Given the description of an element on the screen output the (x, y) to click on. 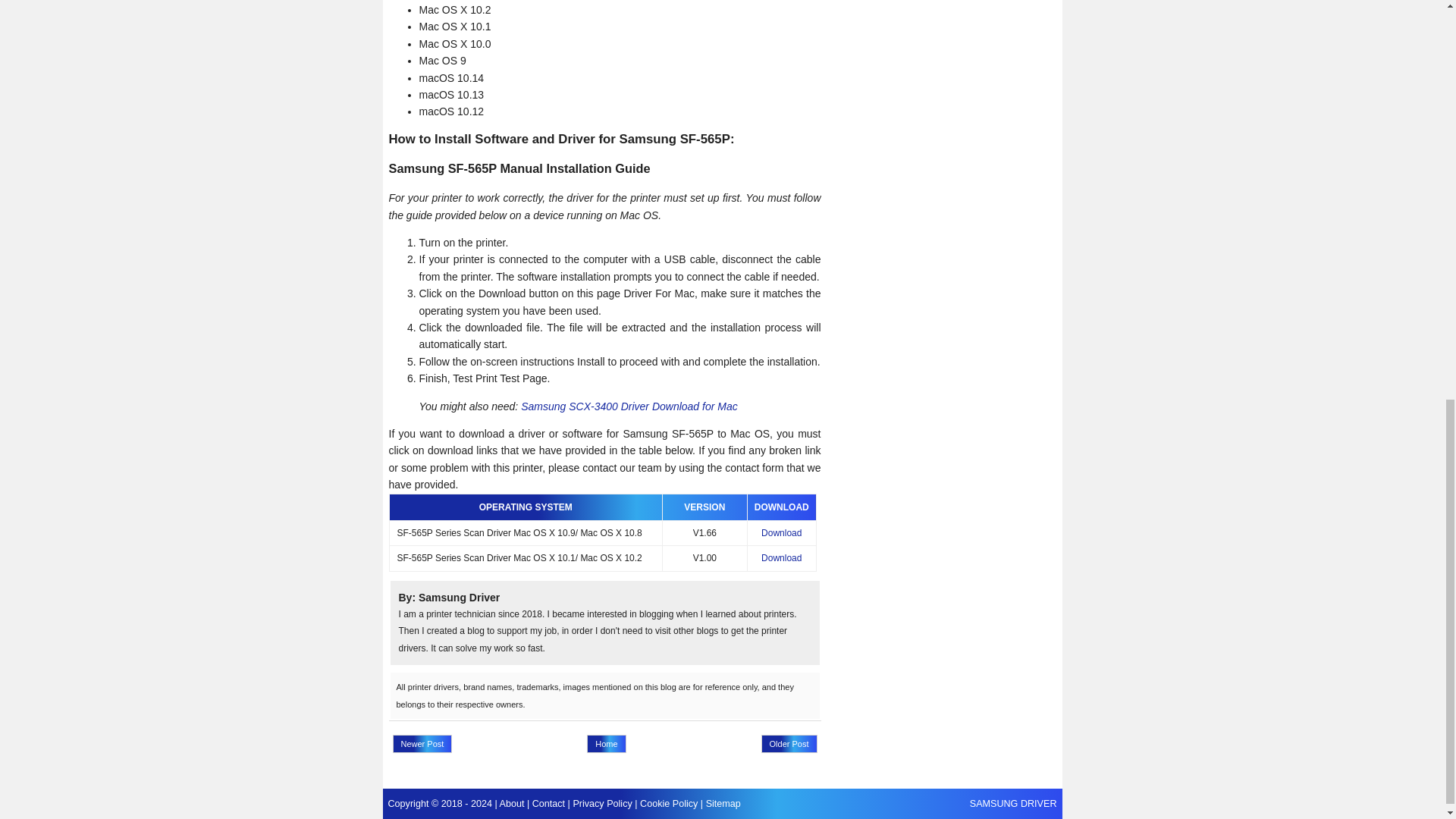
Older Post (788, 743)
SAMSUNG DRIVER (1013, 803)
About (511, 803)
Older Post (788, 743)
Cookie Policy (668, 803)
Download (781, 557)
Contact (548, 803)
Samsung SCX-3400 Driver Download for Mac (629, 406)
Newer Post (422, 743)
SAMSUNG DRIVER (1013, 803)
